Given the description of an element on the screen output the (x, y) to click on. 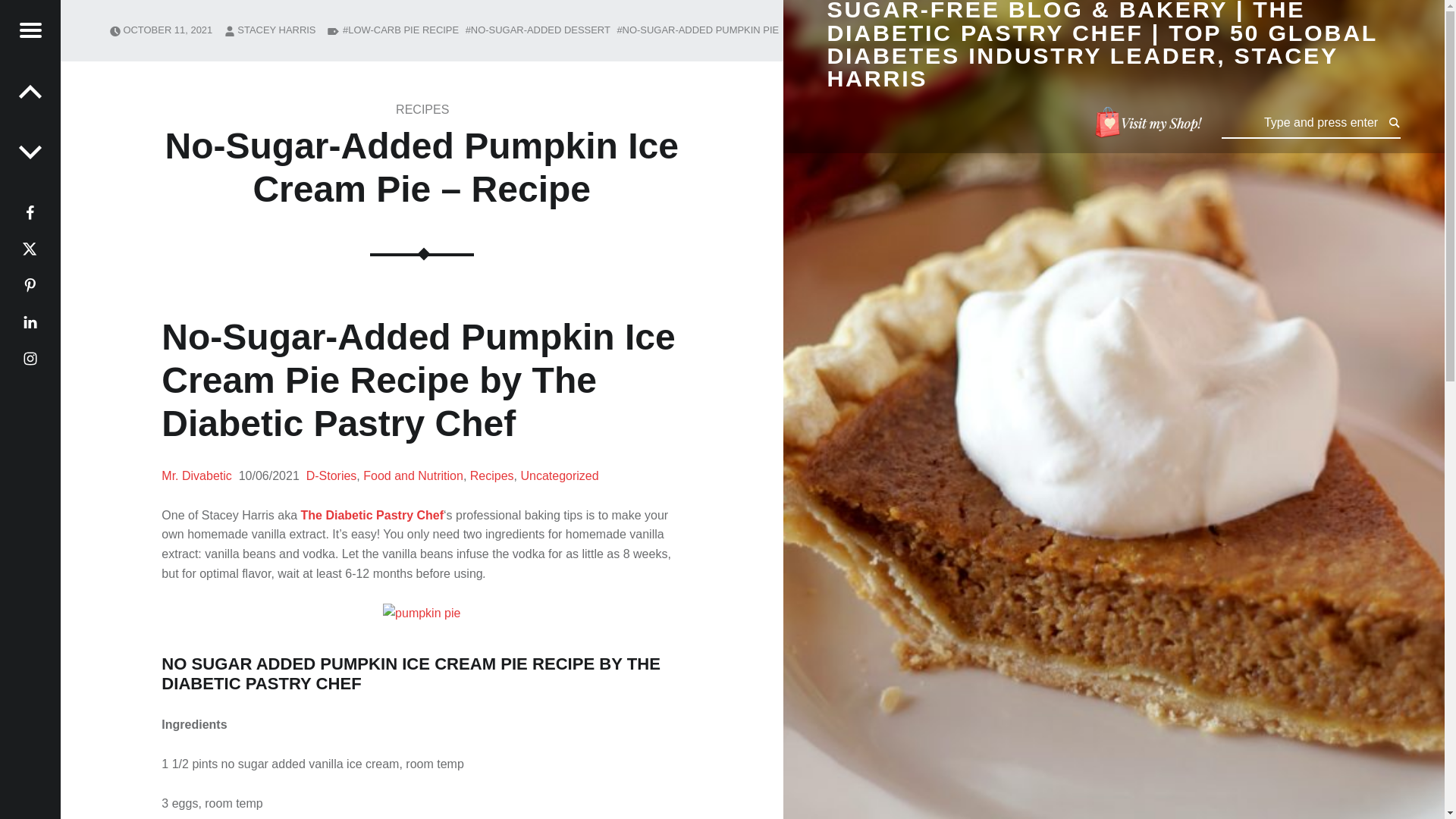
Twitter (30, 248)
Linkedin (30, 321)
D-Stories (330, 475)
Menu (30, 30)
Recipes (491, 475)
LOW-CARB PIE RECIPE (400, 30)
Uncategorized (558, 475)
Facebook (30, 212)
The Diabetic Pastry Chef (372, 513)
THE DIABETIC PASTRY CHEF  (411, 673)
